Given the description of an element on the screen output the (x, y) to click on. 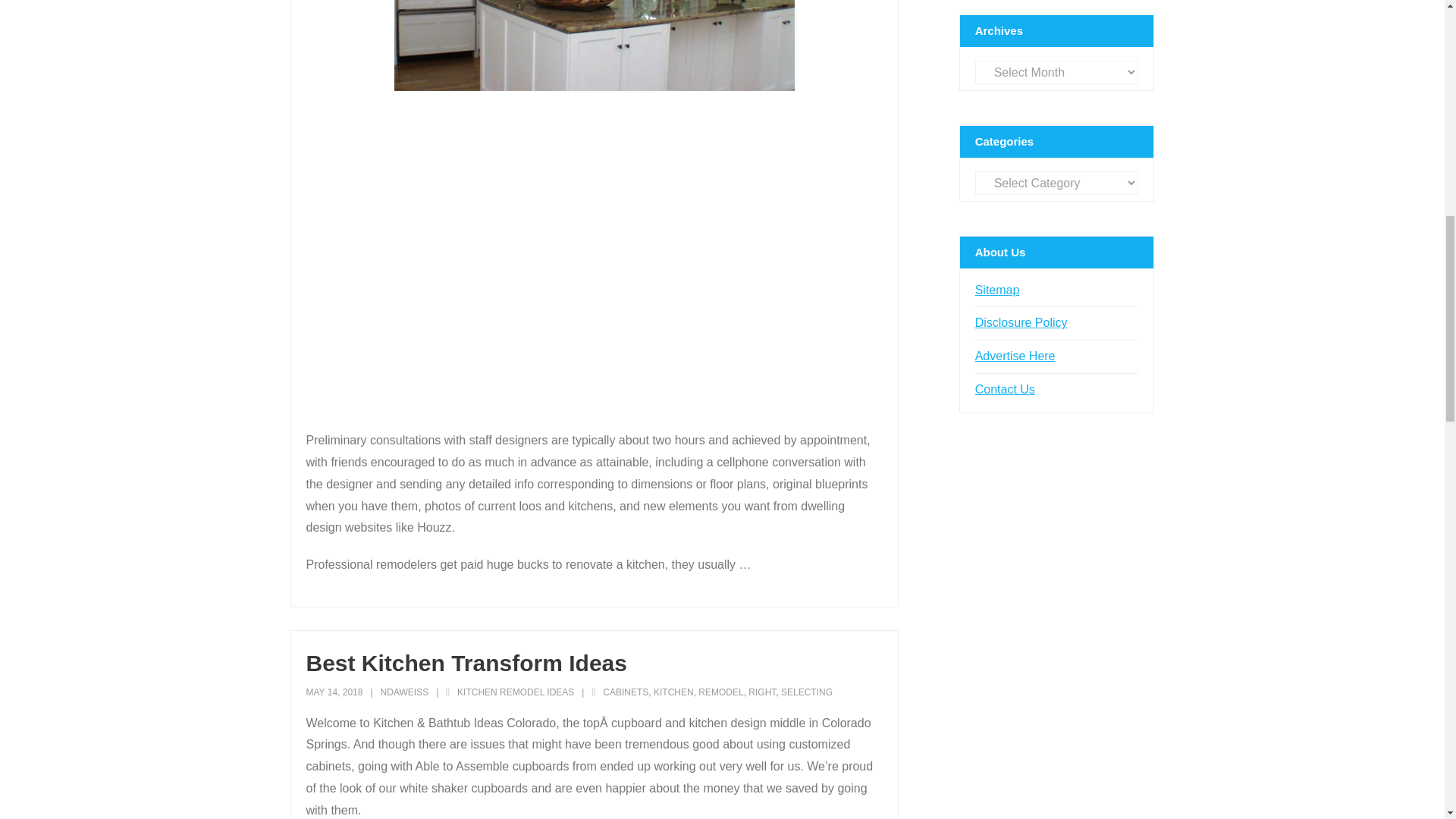
View all posts by Ndaweiss (404, 692)
Best Kitchen Transform Ideas (333, 692)
Permalink to Best Kitchen Transform Ideas (466, 662)
